Given the description of an element on the screen output the (x, y) to click on. 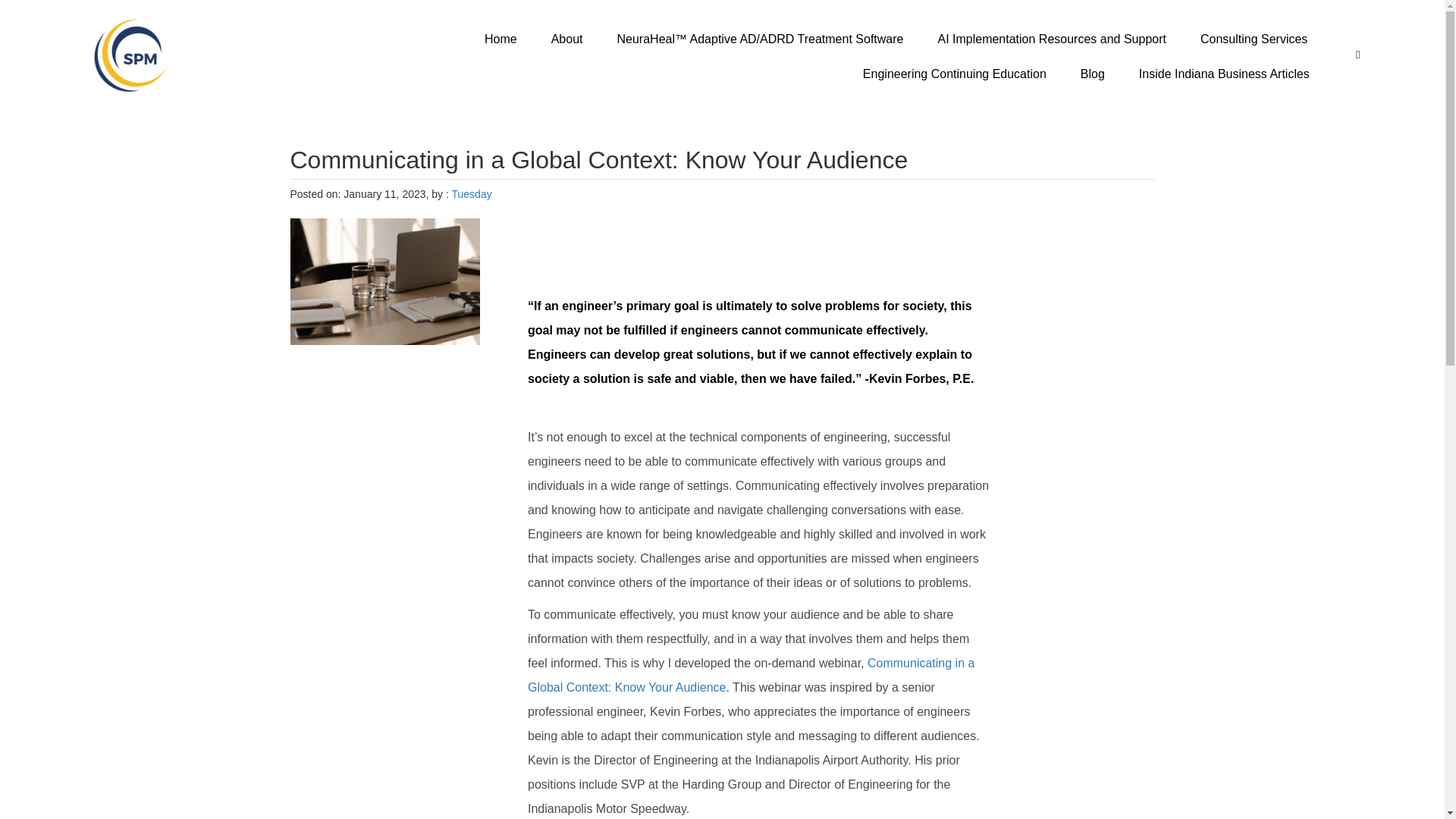
Consulting Services (1253, 39)
Posts by Tuesday (471, 193)
Home (500, 39)
Inside Indiana Business Articles (1224, 73)
Tuesday (471, 193)
AI Implementation Resources and Support (1050, 39)
Blog (1092, 73)
Communicating in a Global Context: Know Your Audience (750, 674)
Engineering Continuing Education (954, 73)
About (566, 39)
